Given the description of an element on the screen output the (x, y) to click on. 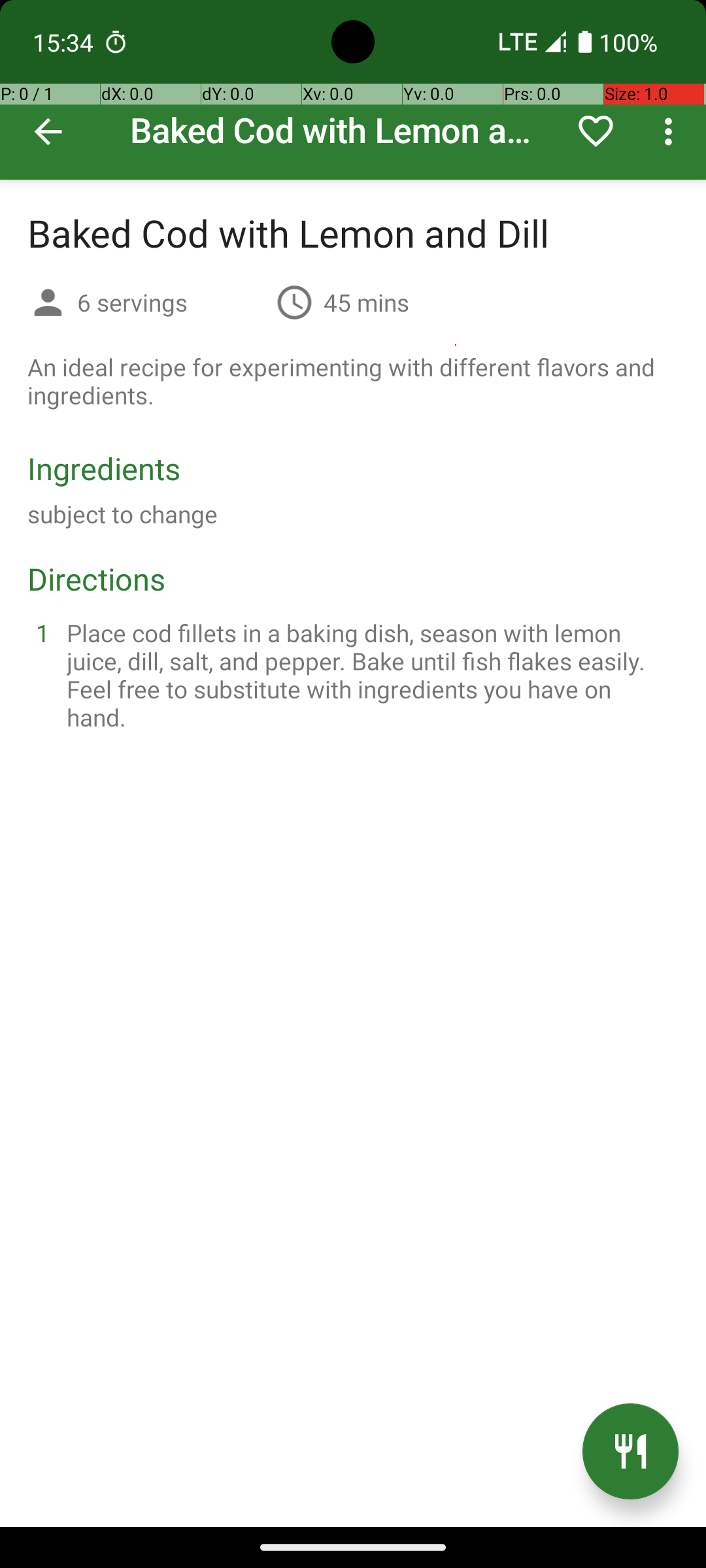
Place cod fillets in a baking dish, season with lemon juice, dill, salt, and pepper. Bake until fish flakes easily. Feel free to substitute with ingredients you have on hand. Element type: android.widget.TextView (368, 674)
